Given the description of an element on the screen output the (x, y) to click on. 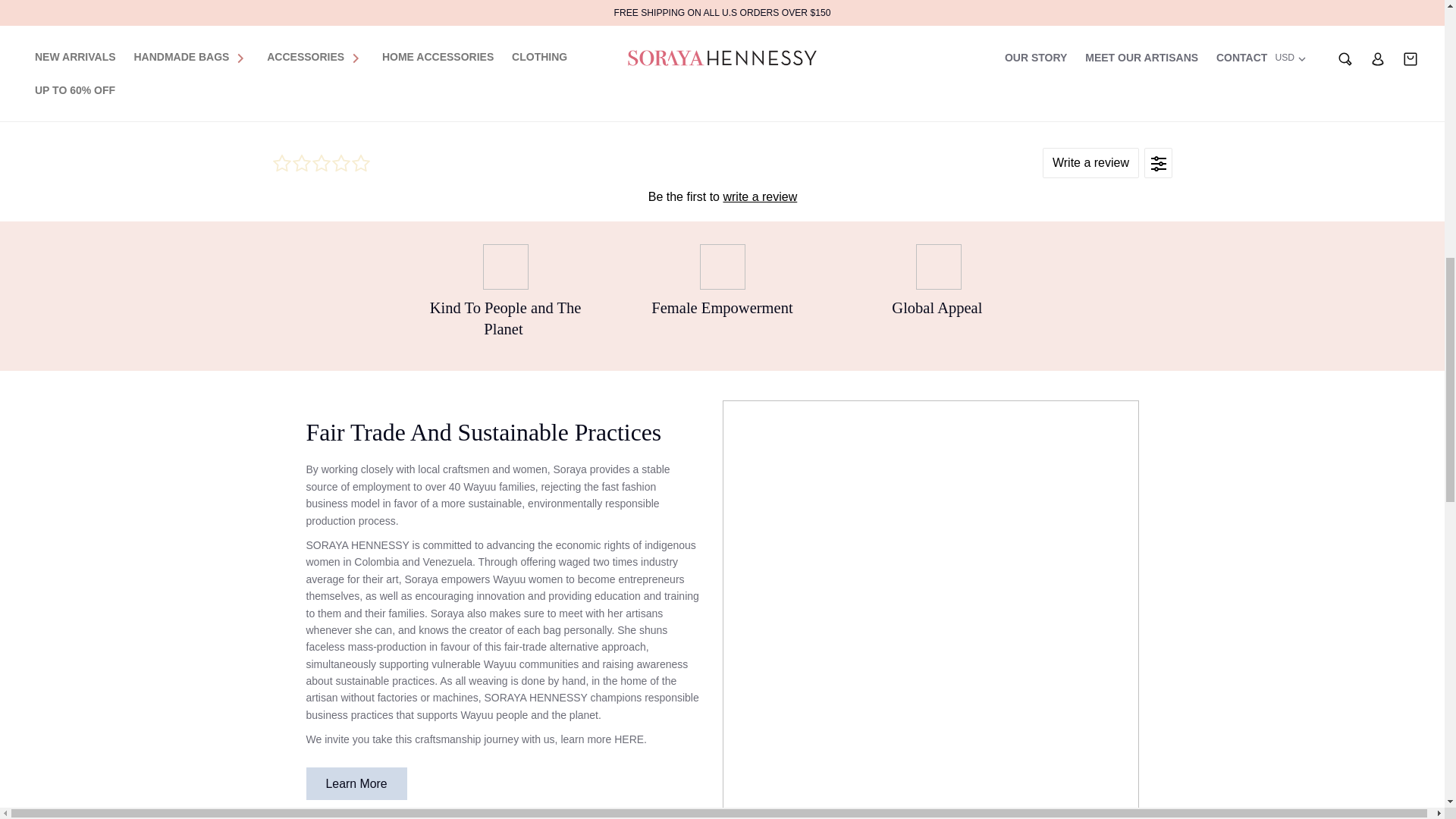
Product reviews widget (721, 176)
